Given the description of an element on the screen output the (x, y) to click on. 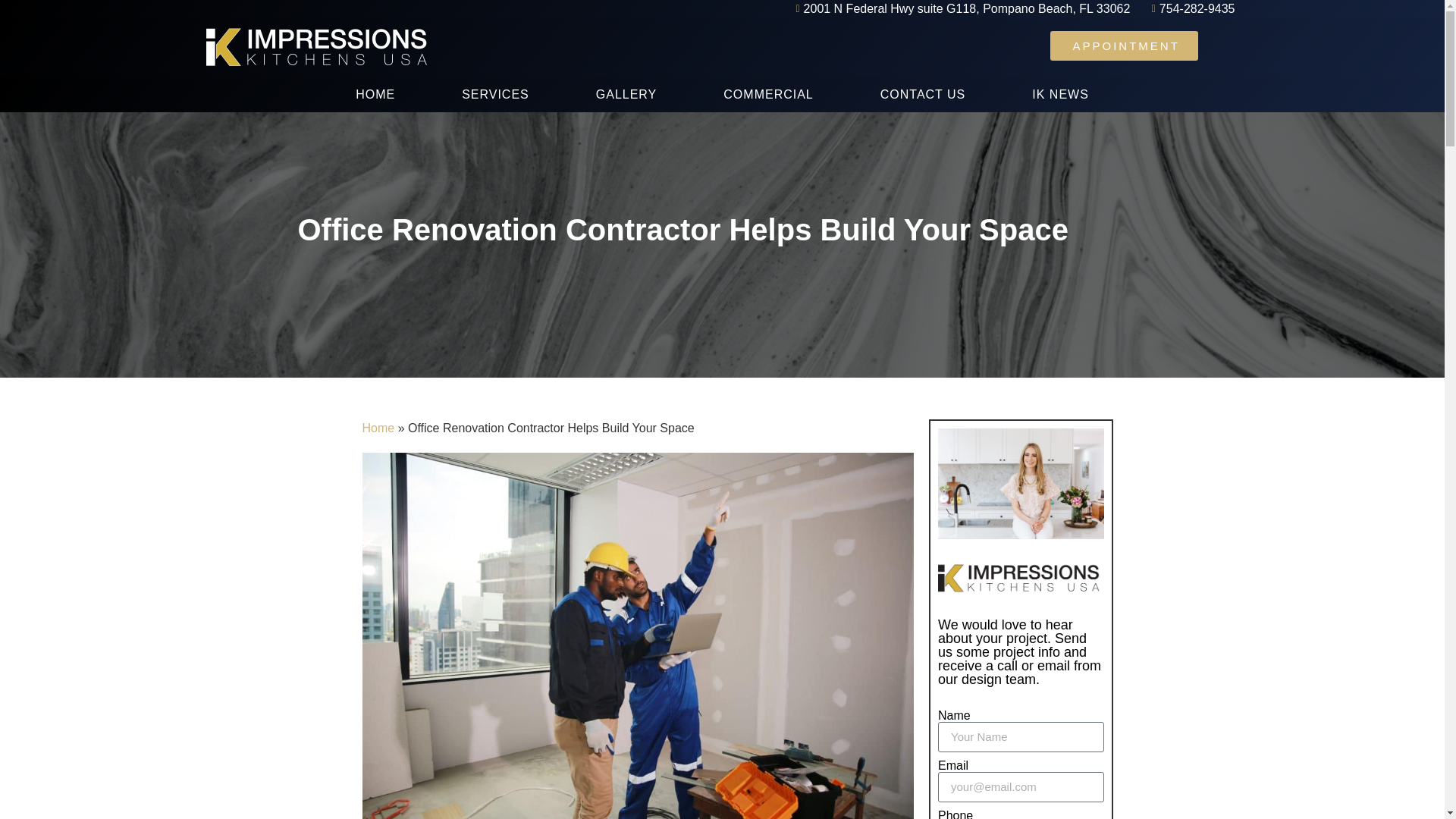
APPOINTMENT (1122, 44)
HOME (375, 94)
754-282-9435 (1187, 9)
SERVICES (495, 94)
